Given the description of an element on the screen output the (x, y) to click on. 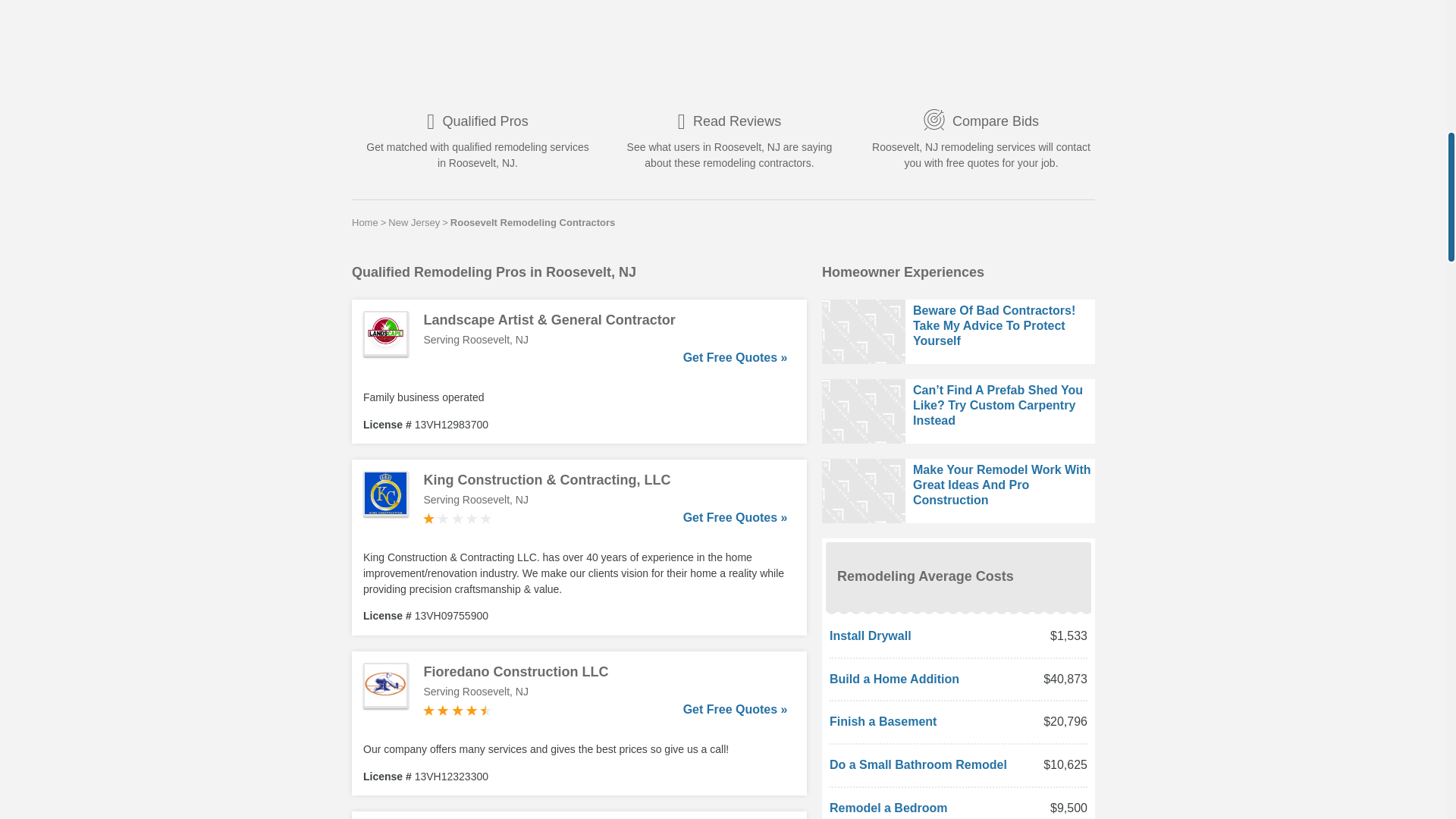
New Jersey (413, 222)
4.5 star rating (457, 710)
1 star rating (457, 518)
Home (365, 222)
